Given the description of an element on the screen output the (x, y) to click on. 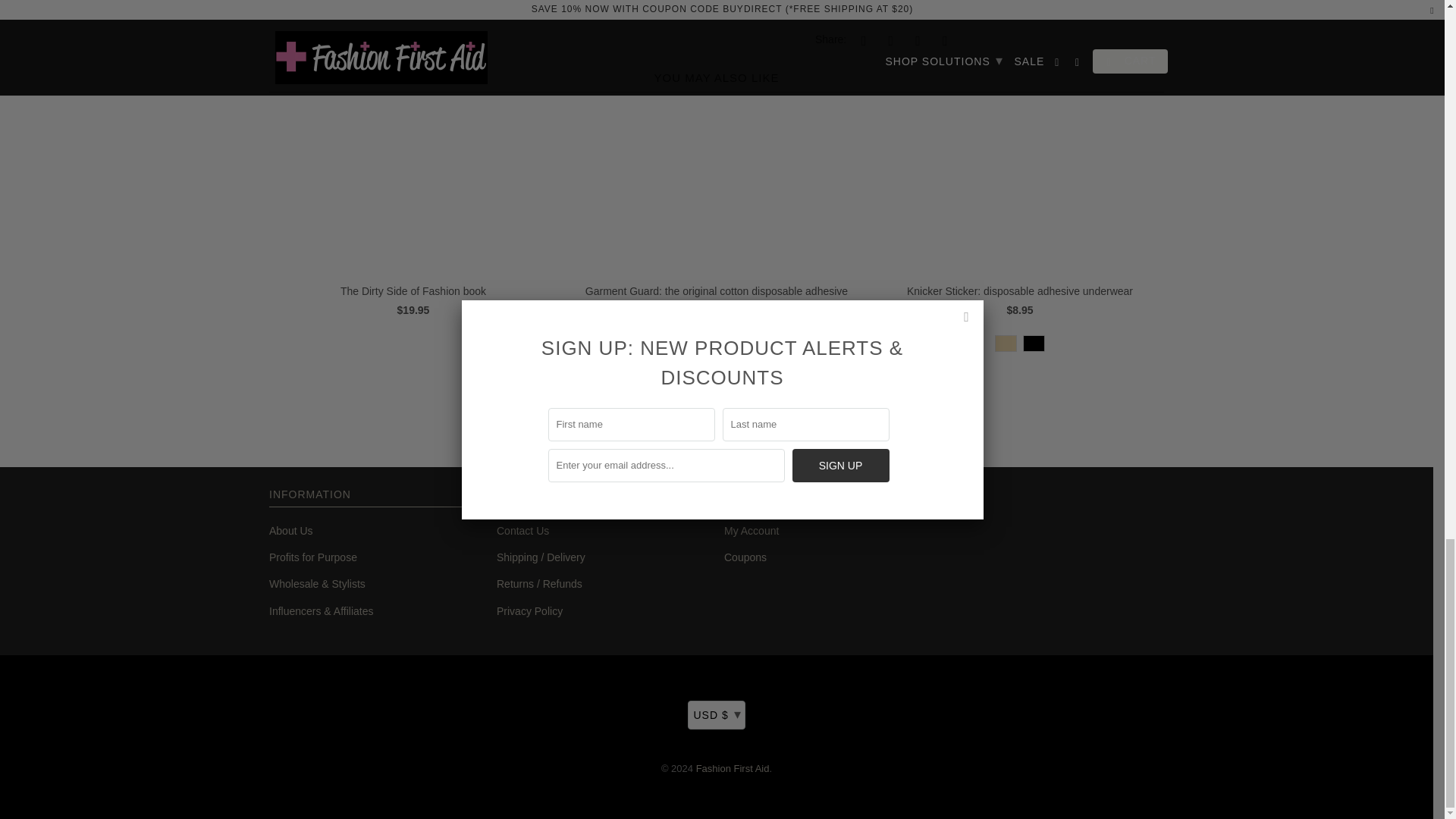
Email this to a friend (942, 39)
Share this on Pinterest (914, 39)
Share this on Twitter (860, 39)
Share this on Facebook (888, 39)
